Given the description of an element on the screen output the (x, y) to click on. 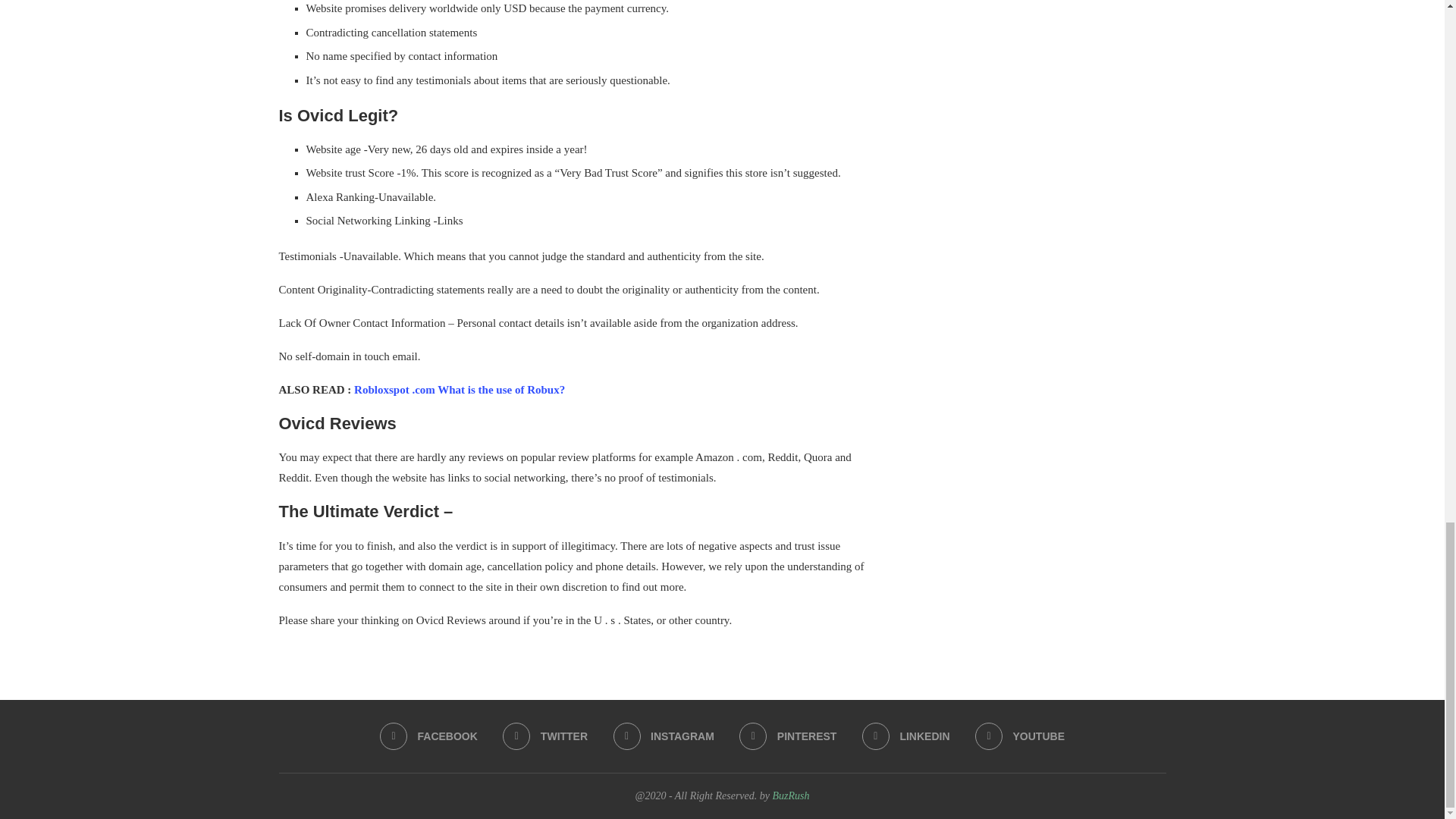
PINTEREST (787, 736)
Robloxspot .com What is the use of Robux? (458, 389)
TWITTER (545, 736)
YOUTUBE (1019, 736)
LINKEDIN (905, 736)
INSTAGRAM (663, 736)
FACEBOOK (428, 736)
